Given the description of an element on the screen output the (x, y) to click on. 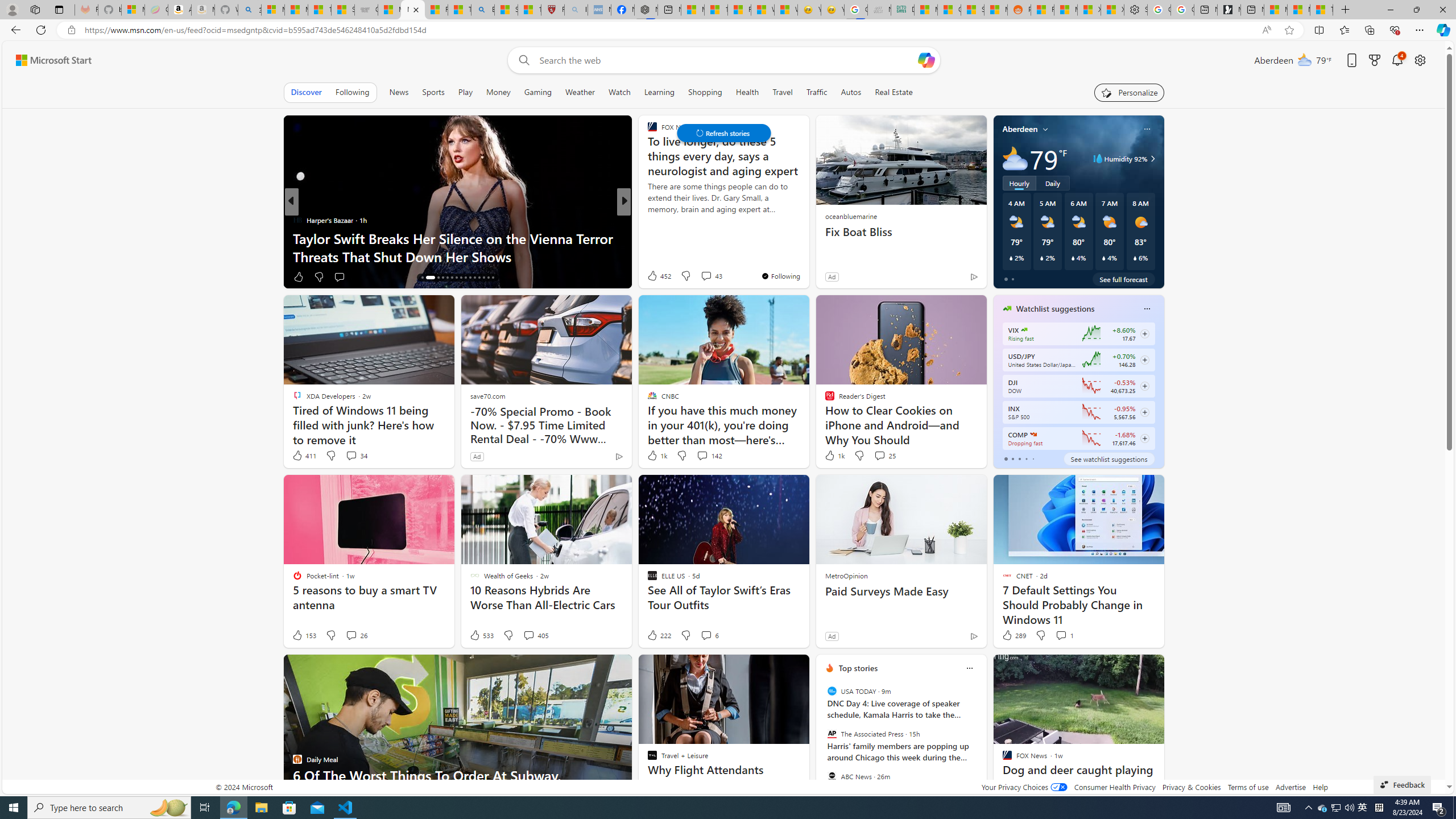
182 Like (654, 276)
Health (746, 92)
View comments 7 Comment (705, 276)
previous (821, 741)
